Given the description of an element on the screen output the (x, y) to click on. 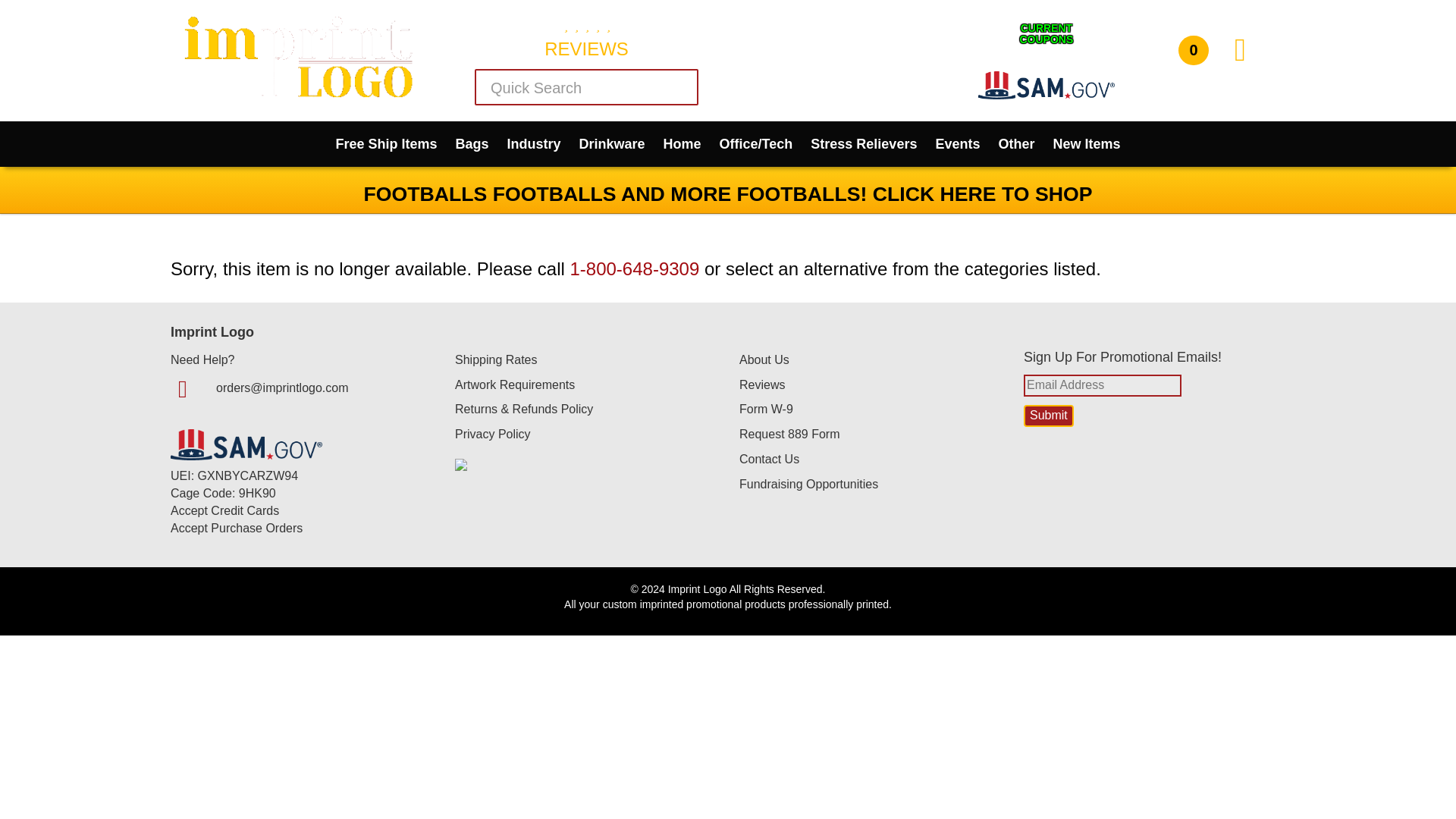
800.648.9309 (839, 40)
Industry (533, 144)
Submit (675, 87)
CONTACT (1045, 36)
Chat Now! (839, 69)
Bags (839, 99)
Submit (471, 144)
Drinkware (1048, 415)
Contact (611, 144)
